Given the description of an element on the screen output the (x, y) to click on. 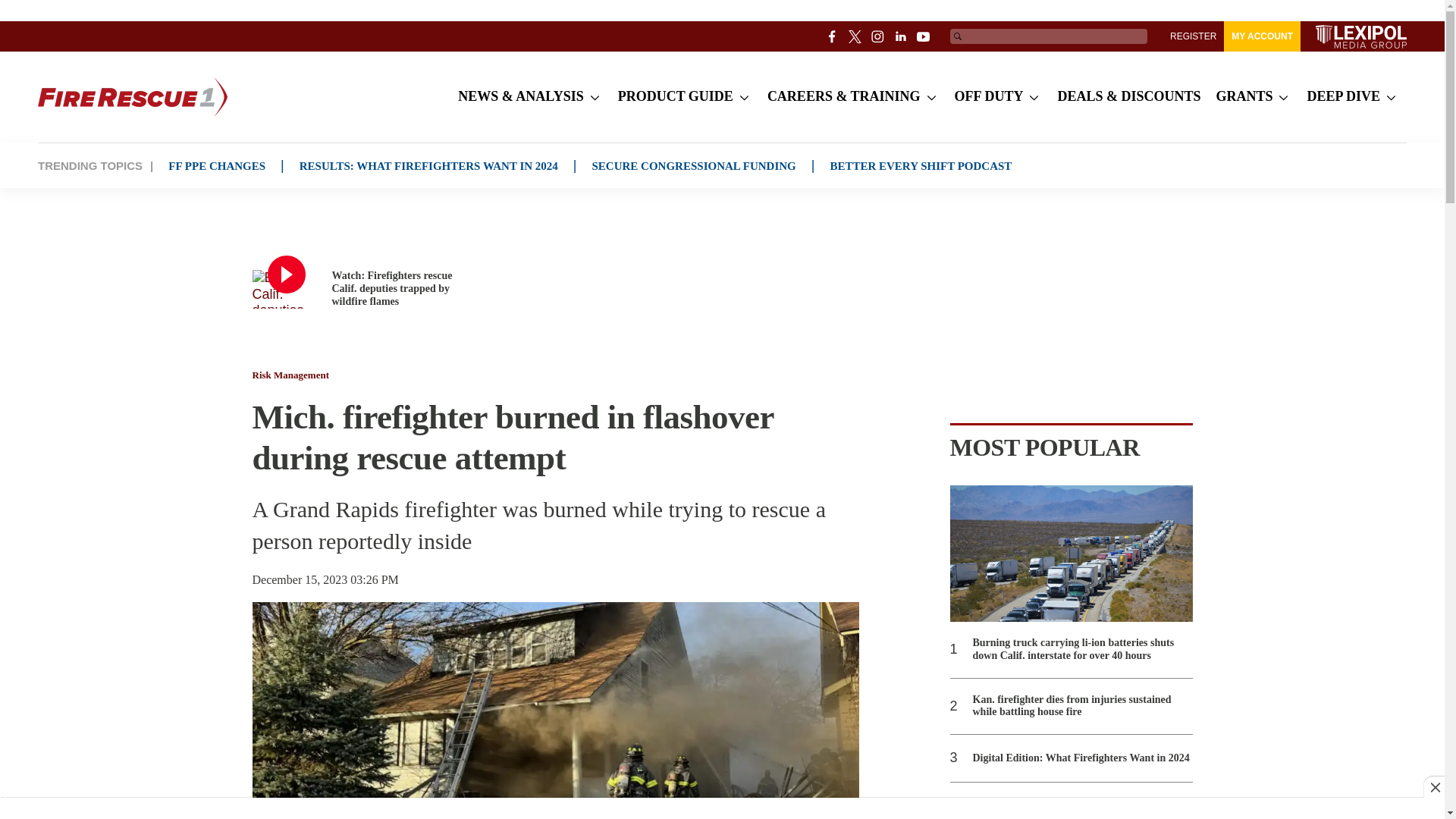
twitter (855, 36)
facebook (832, 36)
REGISTER (1192, 36)
youtube (923, 36)
linkedin (900, 36)
MY ACCOUNT (1262, 36)
instagram (877, 36)
